Given the description of an element on the screen output the (x, y) to click on. 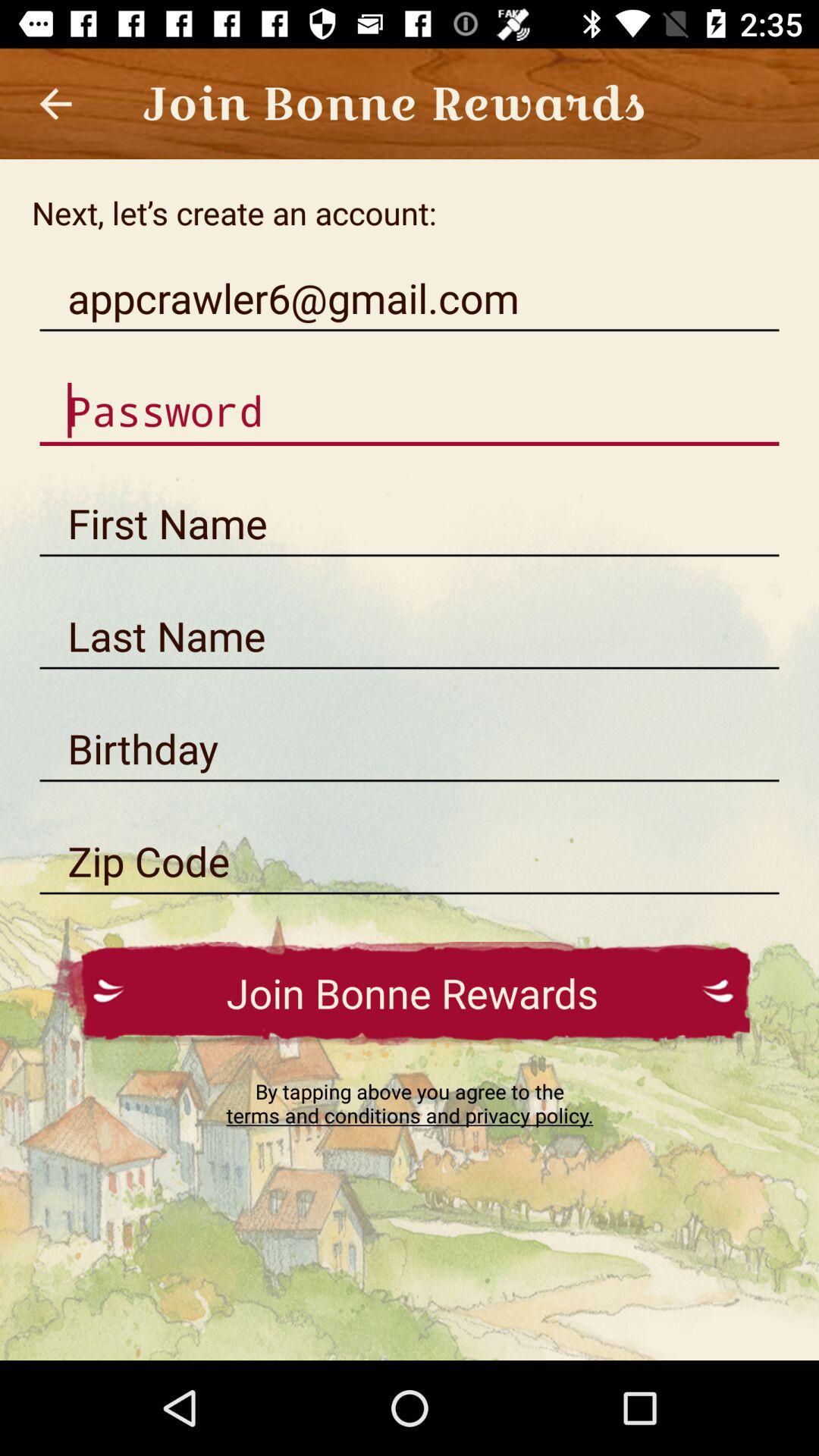
lastname (409, 636)
